Given the description of an element on the screen output the (x, y) to click on. 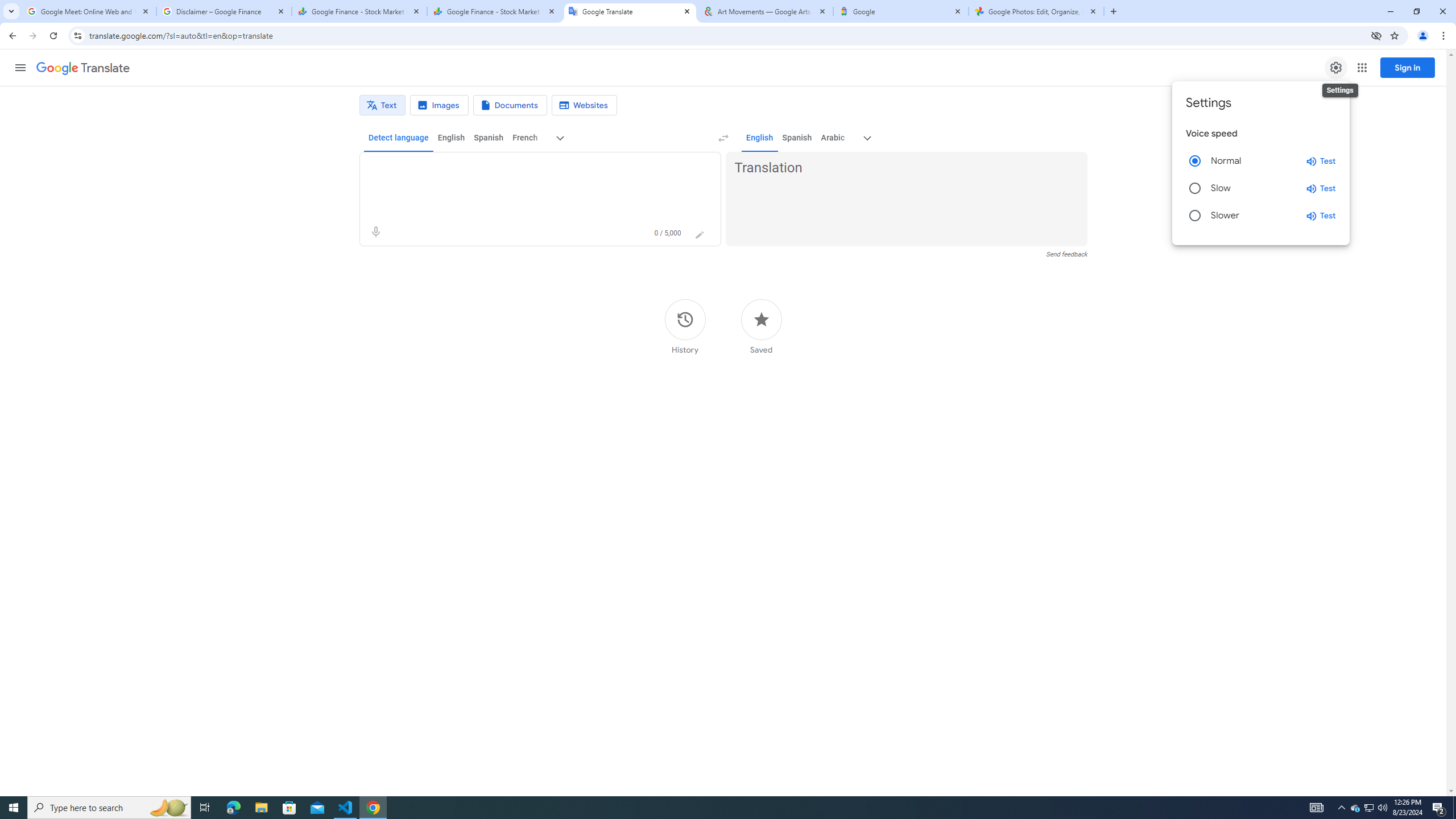
Normal (1194, 160)
Main menu (20, 67)
History (684, 326)
More target languages (867, 137)
French (524, 137)
Slow (1194, 188)
Document translation (510, 105)
Detect language (398, 137)
